Given the description of an element on the screen output the (x, y) to click on. 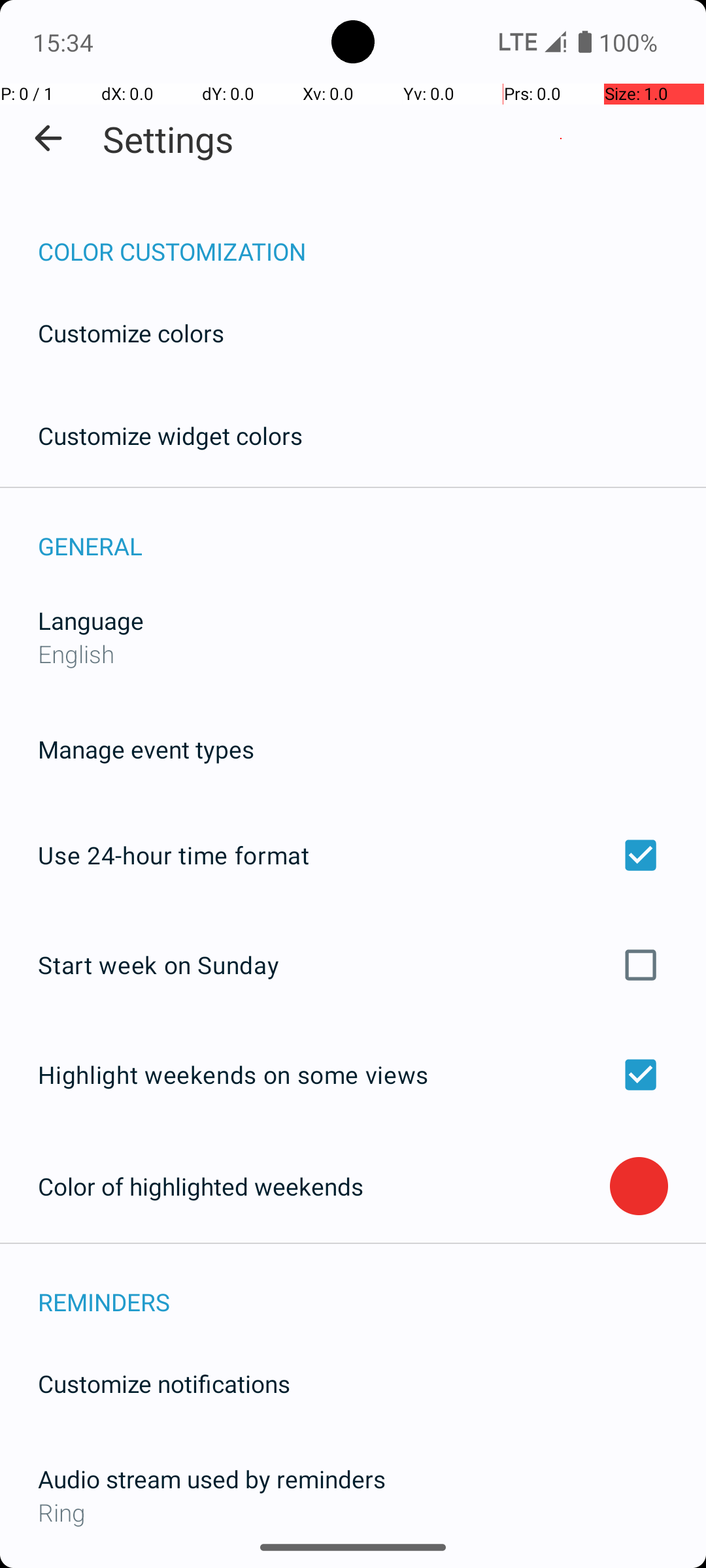
Color of highlighted weekends Element type: android.widget.TextView (323, 1186)
Ring Element type: android.widget.TextView (352, 1511)
